Given the description of an element on the screen output the (x, y) to click on. 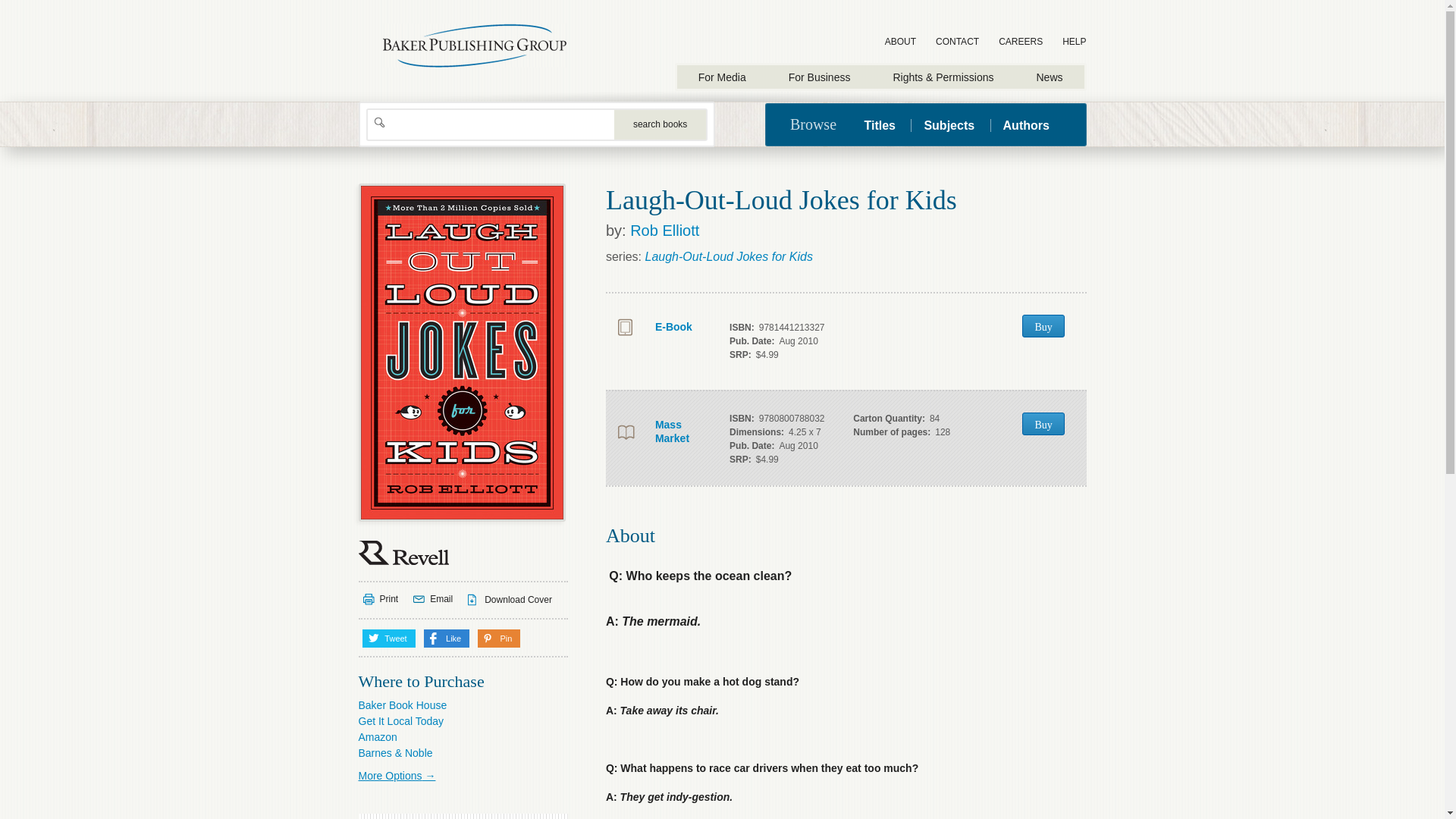
Buy (1043, 423)
For Media (722, 76)
Authors (1025, 124)
Tweet (388, 638)
For Business (819, 76)
HELP (1074, 41)
Rob Elliott (664, 230)
ABOUT (900, 41)
News (1048, 76)
Get It Local Today (401, 720)
CONTACT (957, 41)
Buy (1043, 325)
Search Books (660, 124)
Titles (885, 124)
Like (446, 638)
